Given the description of an element on the screen output the (x, y) to click on. 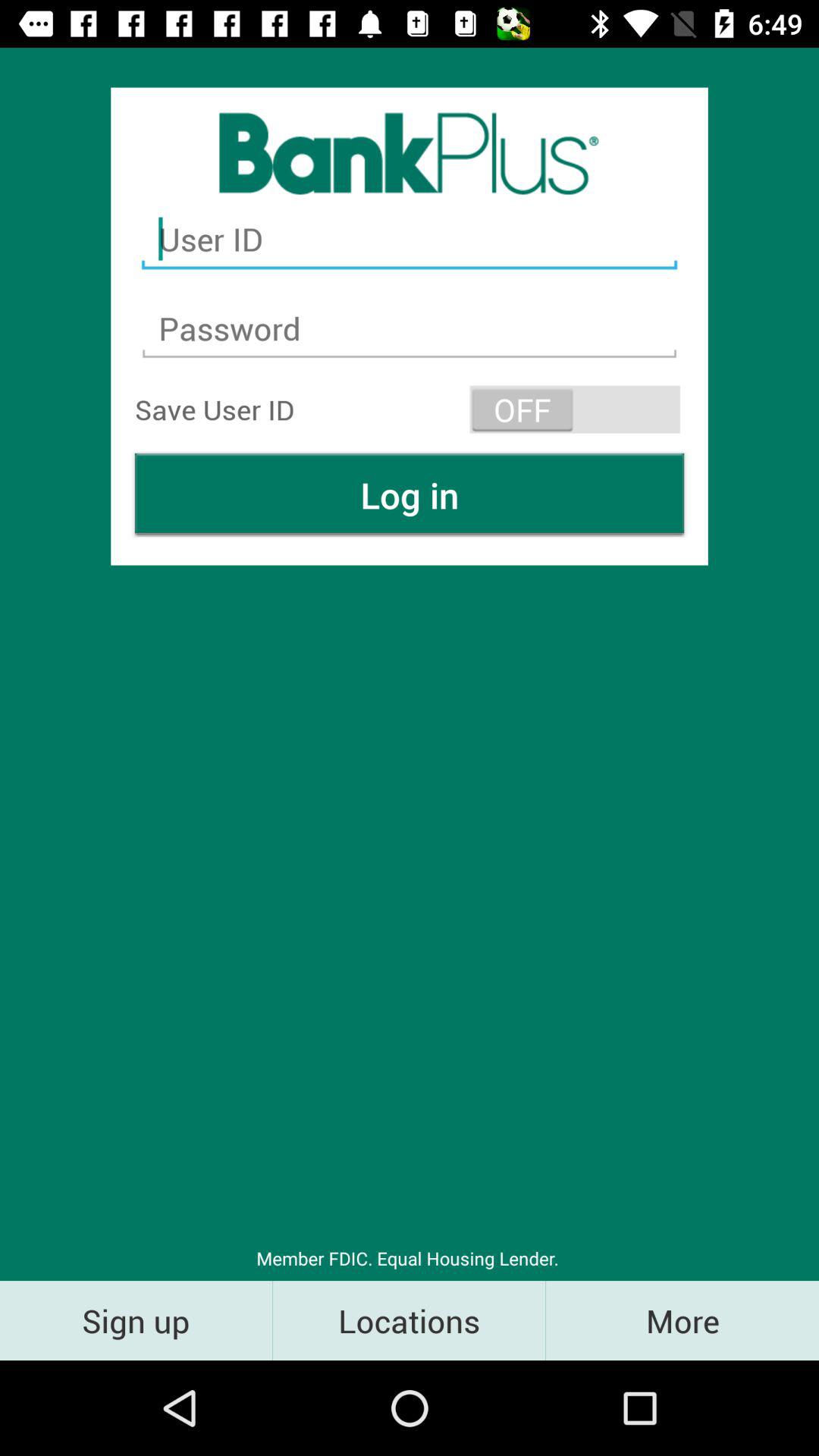
turn off the icon to the right of the locations (682, 1320)
